Given the description of an element on the screen output the (x, y) to click on. 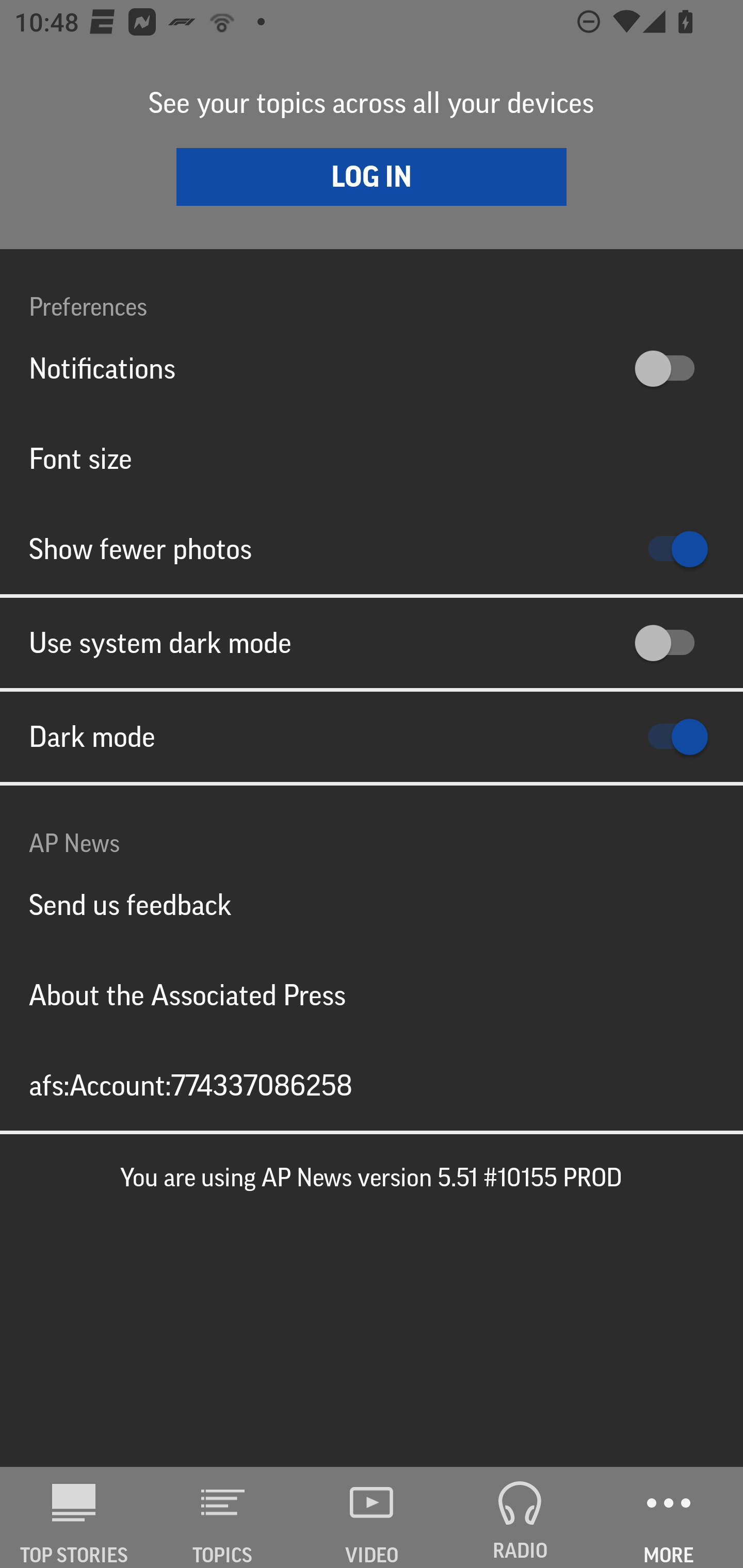
LOG IN (371, 176)
Notifications (371, 368)
Font size (371, 458)
Show fewer photos (371, 548)
Use system dark mode (371, 642)
Dark mode (371, 736)
Send us feedback (371, 904)
About the Associated Press (371, 994)
afs:Account:774337086258 (371, 1084)
AP News TOP STORIES (74, 1517)
TOPICS (222, 1517)
VIDEO (371, 1517)
RADIO (519, 1517)
MORE (668, 1517)
